Given the description of an element on the screen output the (x, y) to click on. 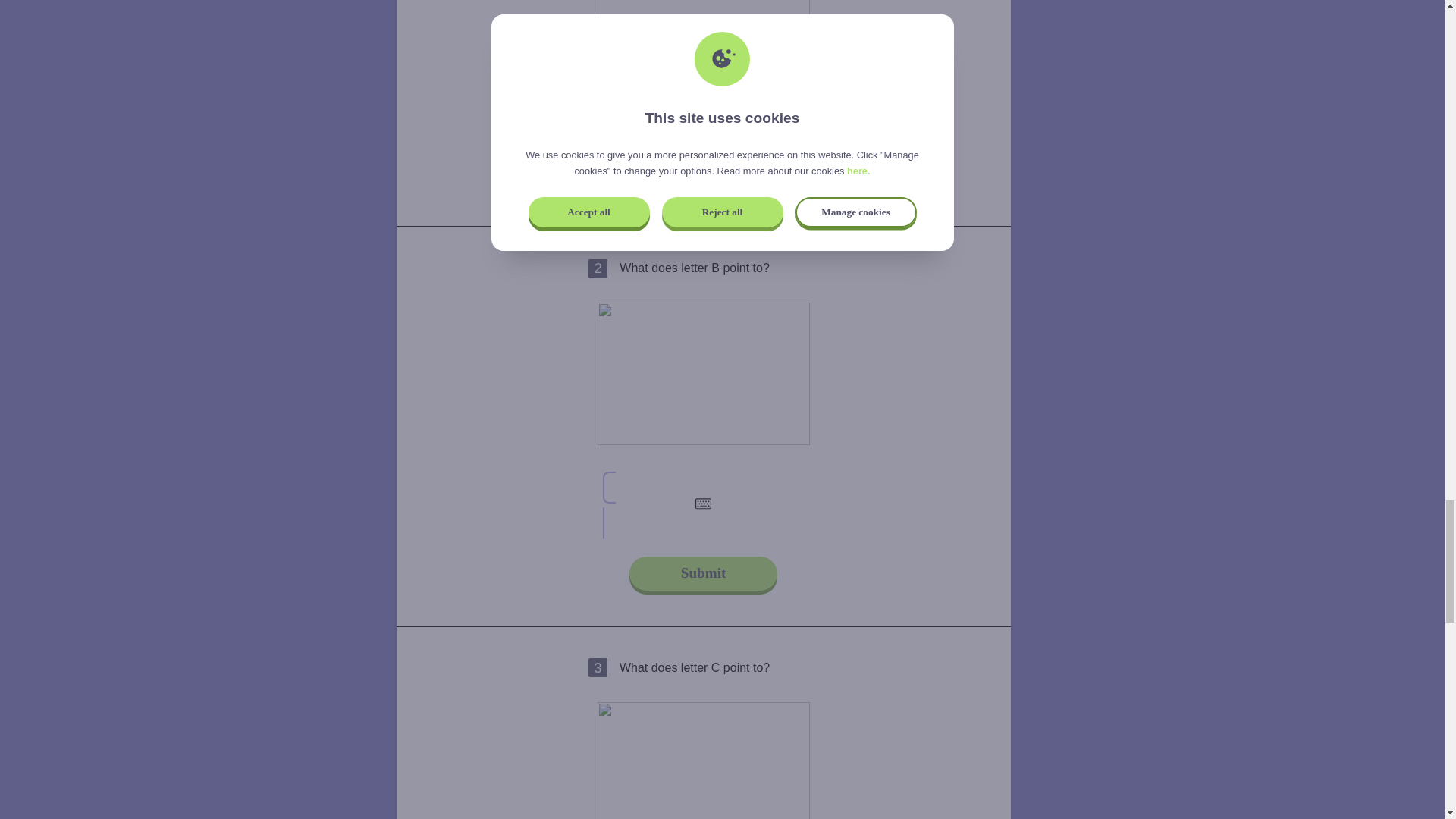
Submit (702, 573)
Submit (702, 173)
